Given the description of an element on the screen output the (x, y) to click on. 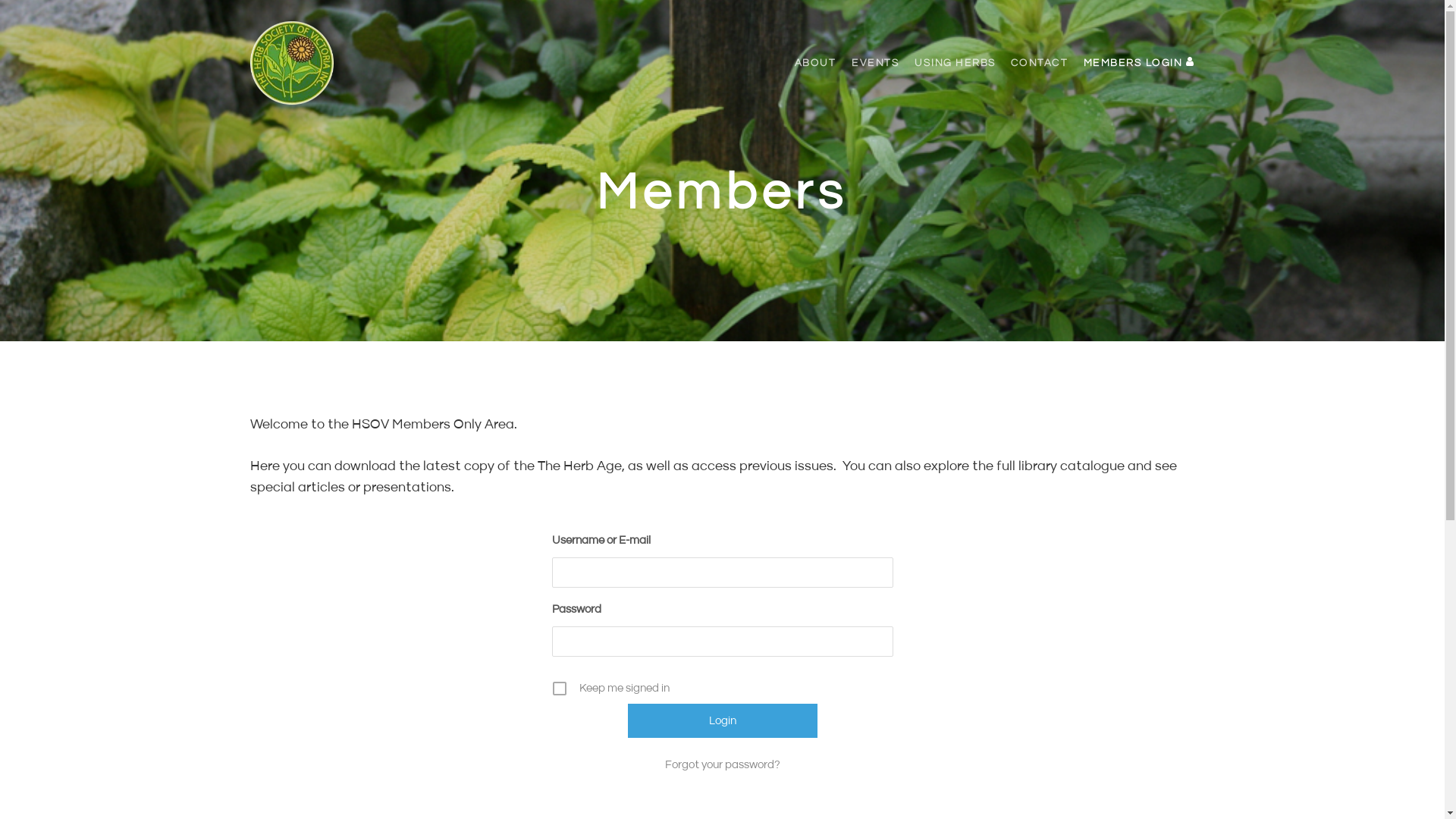
EVENTS Element type: text (874, 62)
Login Element type: text (722, 720)
USING HERBS Element type: text (955, 62)
MEMBERS LOGIN Element type: text (1134, 62)
ABOUT Element type: text (815, 62)
CONTACT Element type: text (1039, 62)
Forgot your password? Element type: text (722, 764)
